Given the description of an element on the screen output the (x, y) to click on. 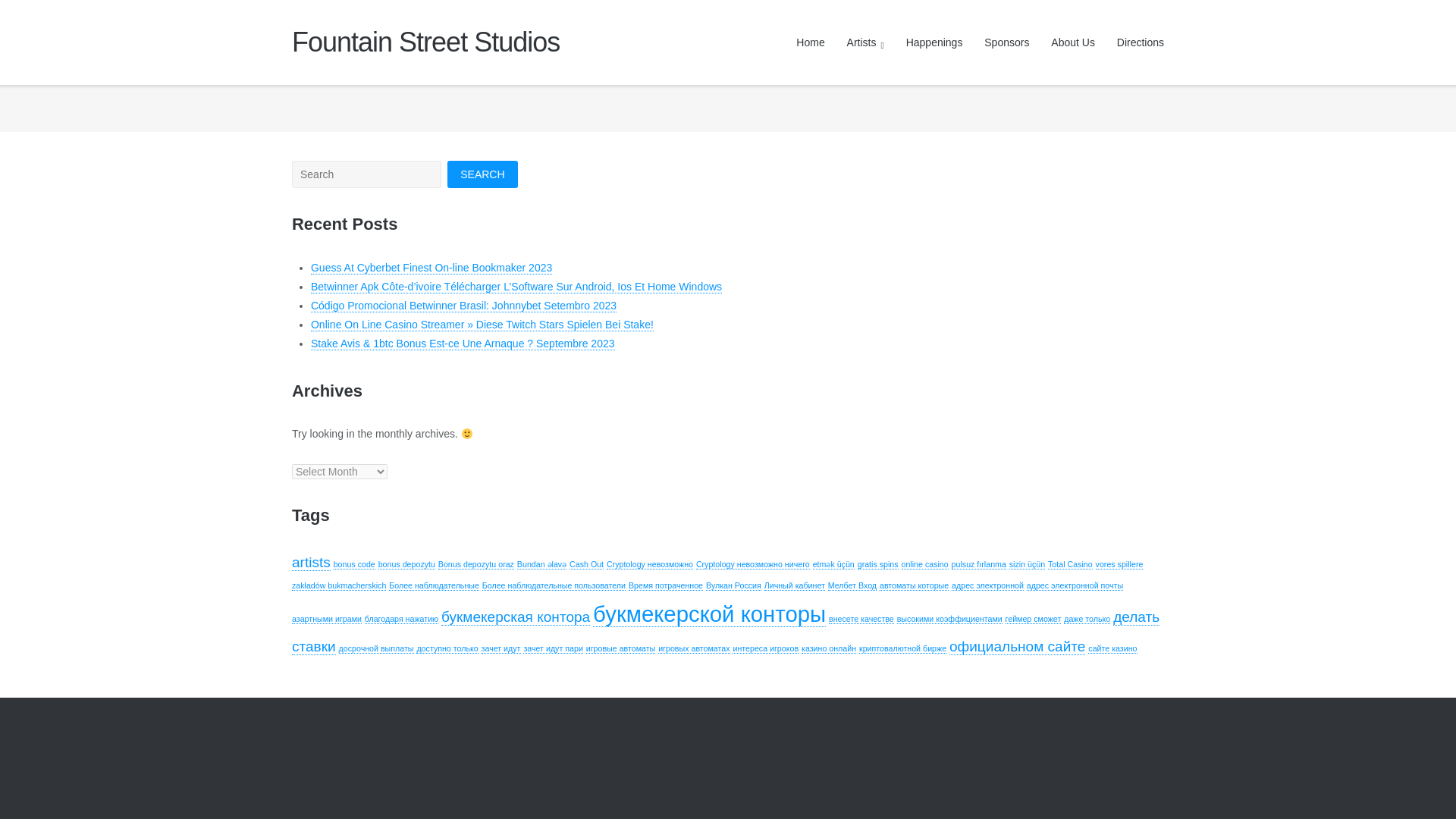
vores spillere (1119, 564)
Bonus depozytu oraz (475, 564)
artists (311, 562)
bonus code (354, 564)
online casino (924, 564)
Total Casino (1070, 564)
Search for: (366, 174)
Cash Out (586, 564)
Search (481, 174)
Search (481, 174)
